Given the description of an element on the screen output the (x, y) to click on. 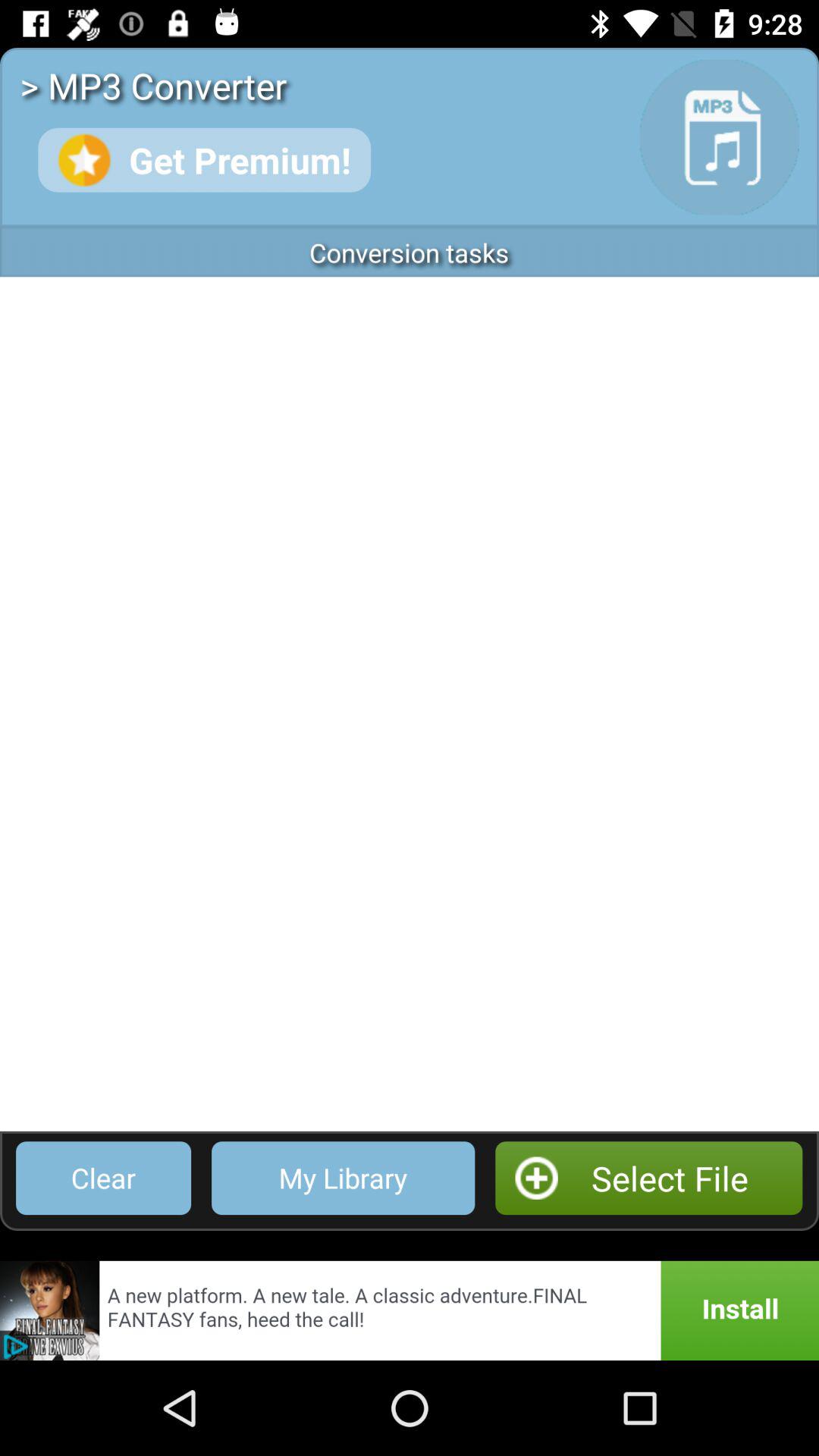
tap app next to clear (342, 1177)
